Given the description of an element on the screen output the (x, y) to click on. 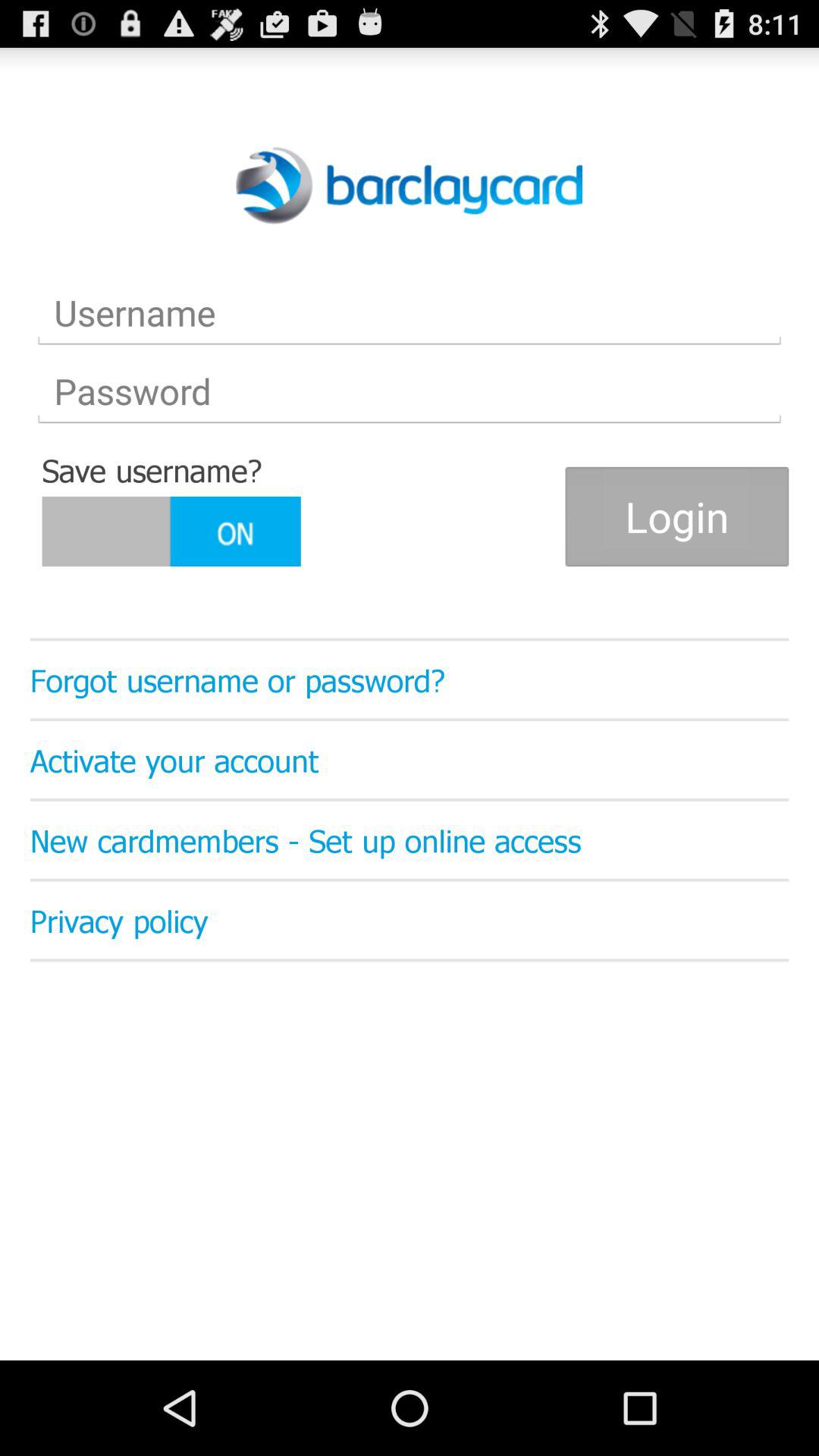
scroll to new cardmembers set icon (409, 839)
